Given the description of an element on the screen output the (x, y) to click on. 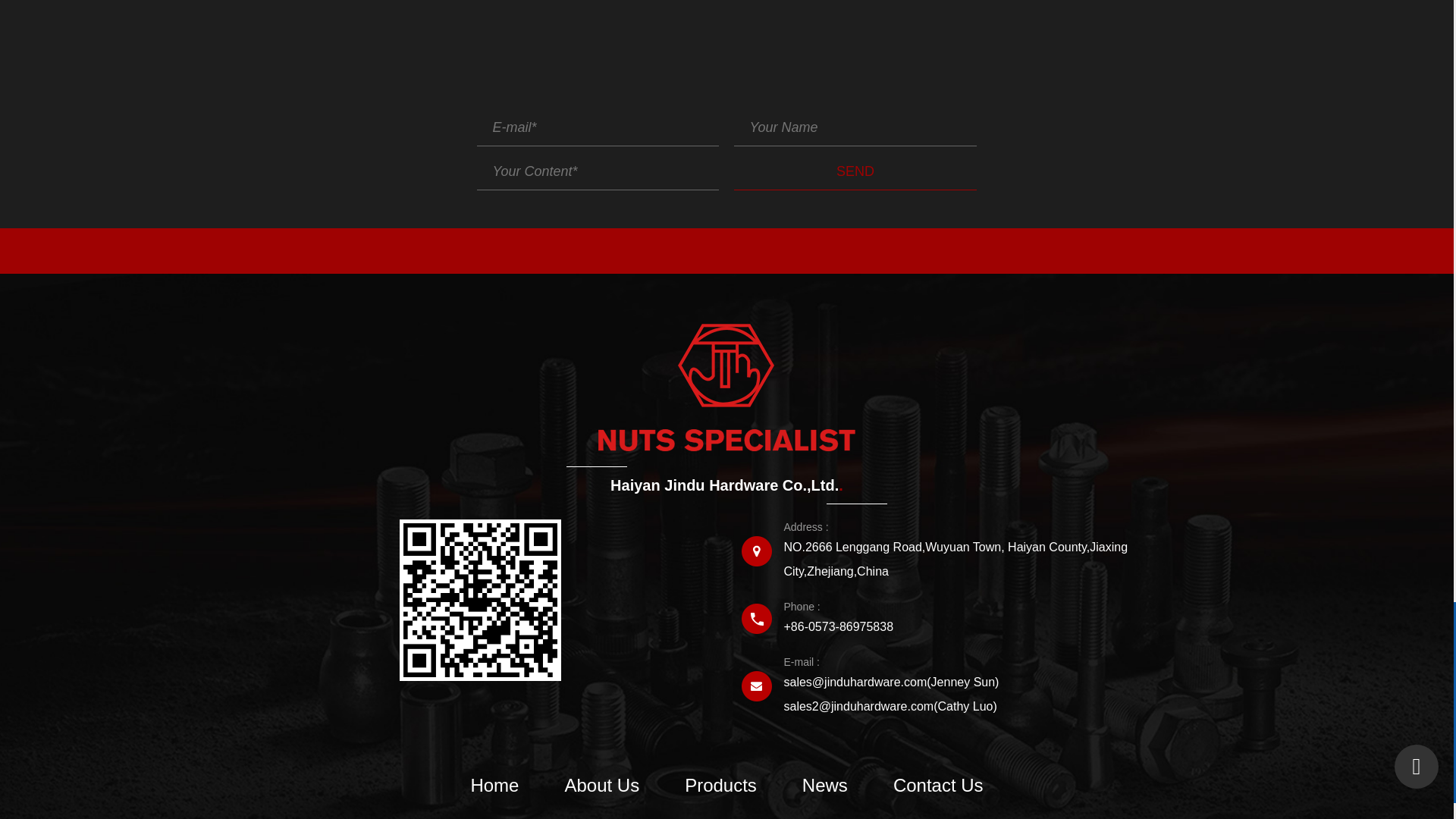
send (854, 171)
